Given the description of an element on the screen output the (x, y) to click on. 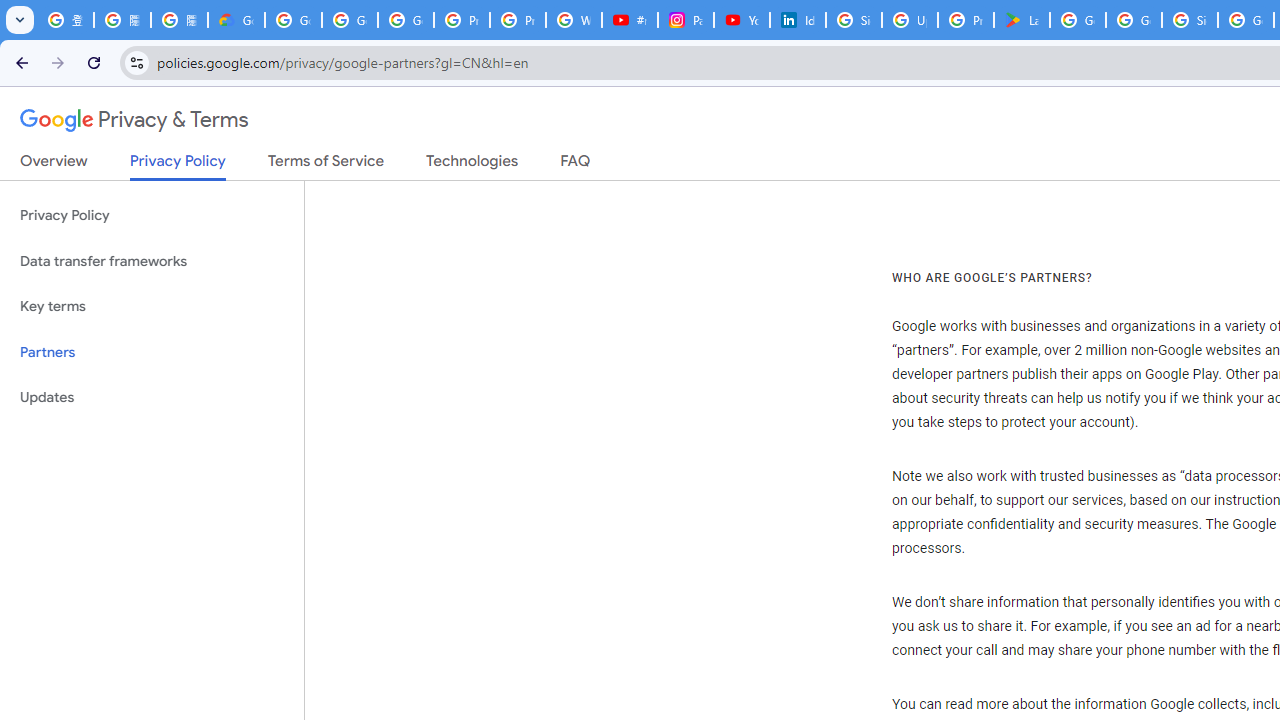
Privacy Help Center - Policies Help (518, 20)
Data transfer frameworks (152, 261)
Technologies (472, 165)
FAQ (575, 165)
Last Shelter: Survival - Apps on Google Play (1021, 20)
Google Workspace - Specific Terms (1133, 20)
Sign in - Google Accounts (853, 20)
Sign in - Google Accounts (1190, 20)
